Given the description of an element on the screen output the (x, y) to click on. 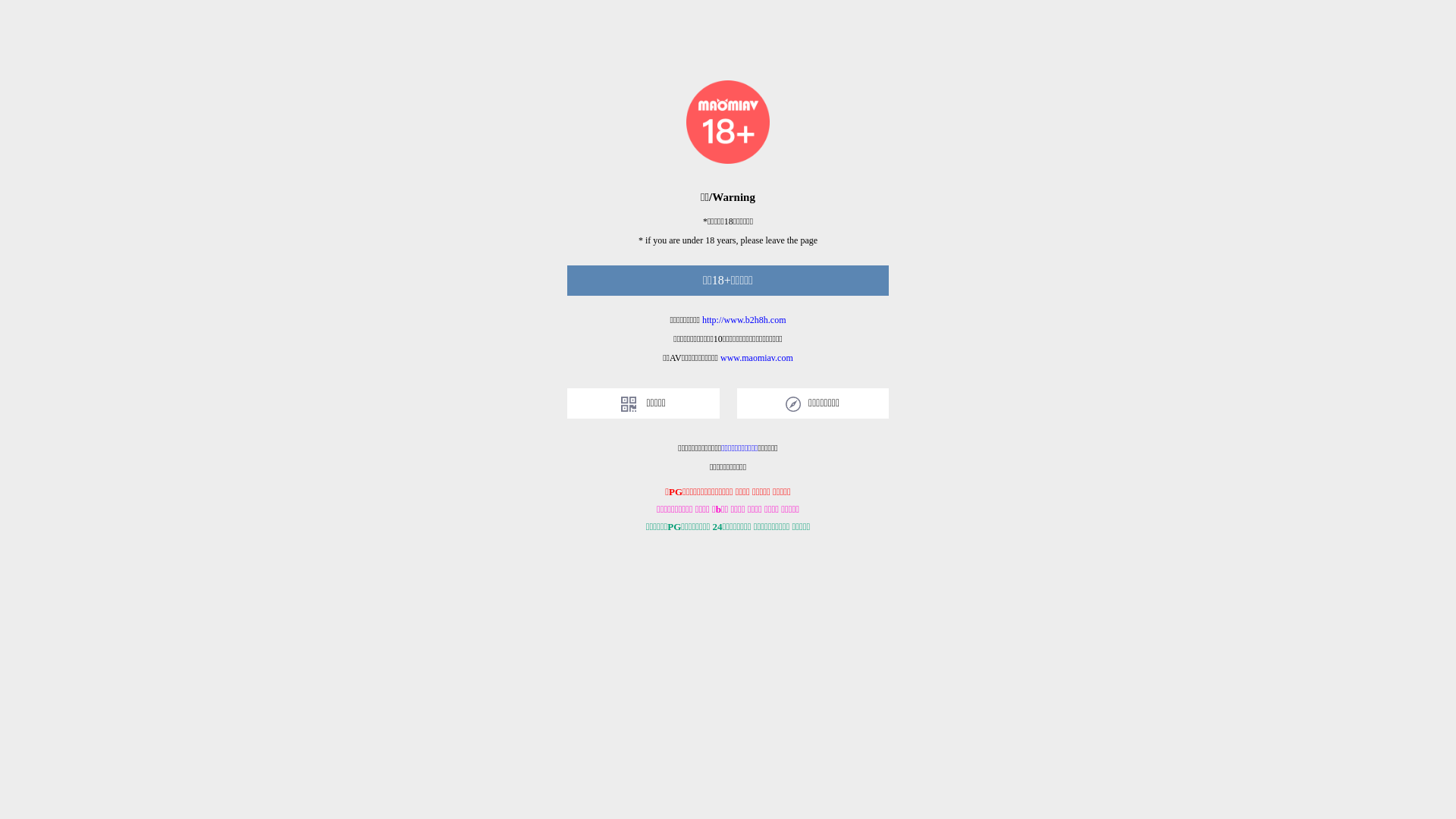
http://www.b2h8h.com Element type: text (744, 319)
www.maomiav.com Element type: text (756, 357)
